Given the description of an element on the screen output the (x, y) to click on. 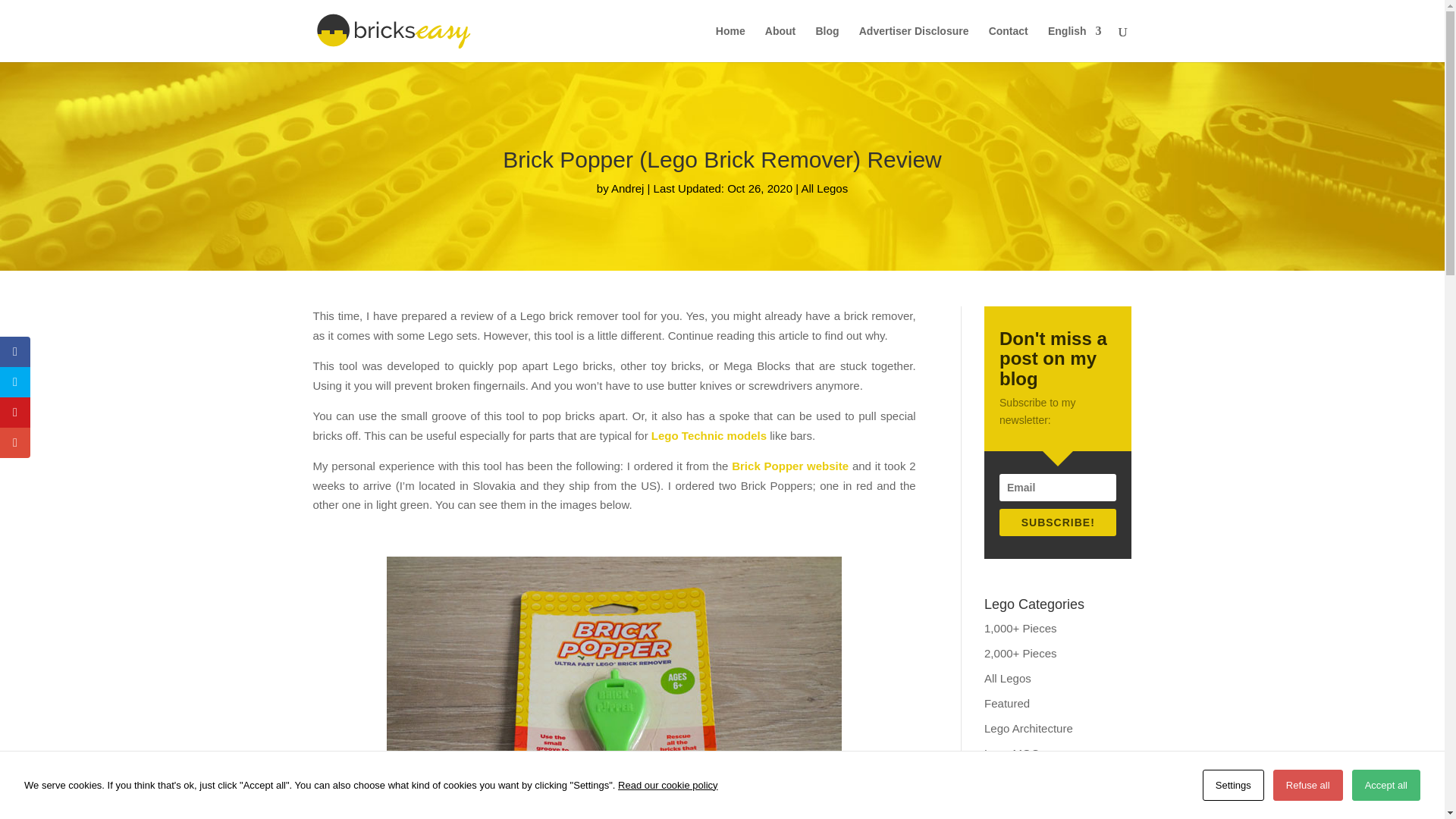
Lego Speed Champions (1045, 802)
Lego Architecture (1028, 727)
Advertiser Disclosure (914, 43)
Brick Popper website (790, 465)
All Legos (1007, 677)
Lego Technic models (708, 435)
SUBSCRIBE! (1057, 522)
English (1075, 43)
Lego MOCs (1014, 753)
All Legos (823, 187)
Lego Racers (1016, 778)
Contact (1007, 43)
Andrej (627, 187)
Posts by Andrej (627, 187)
Featured (1006, 703)
